Given the description of an element on the screen output the (x, y) to click on. 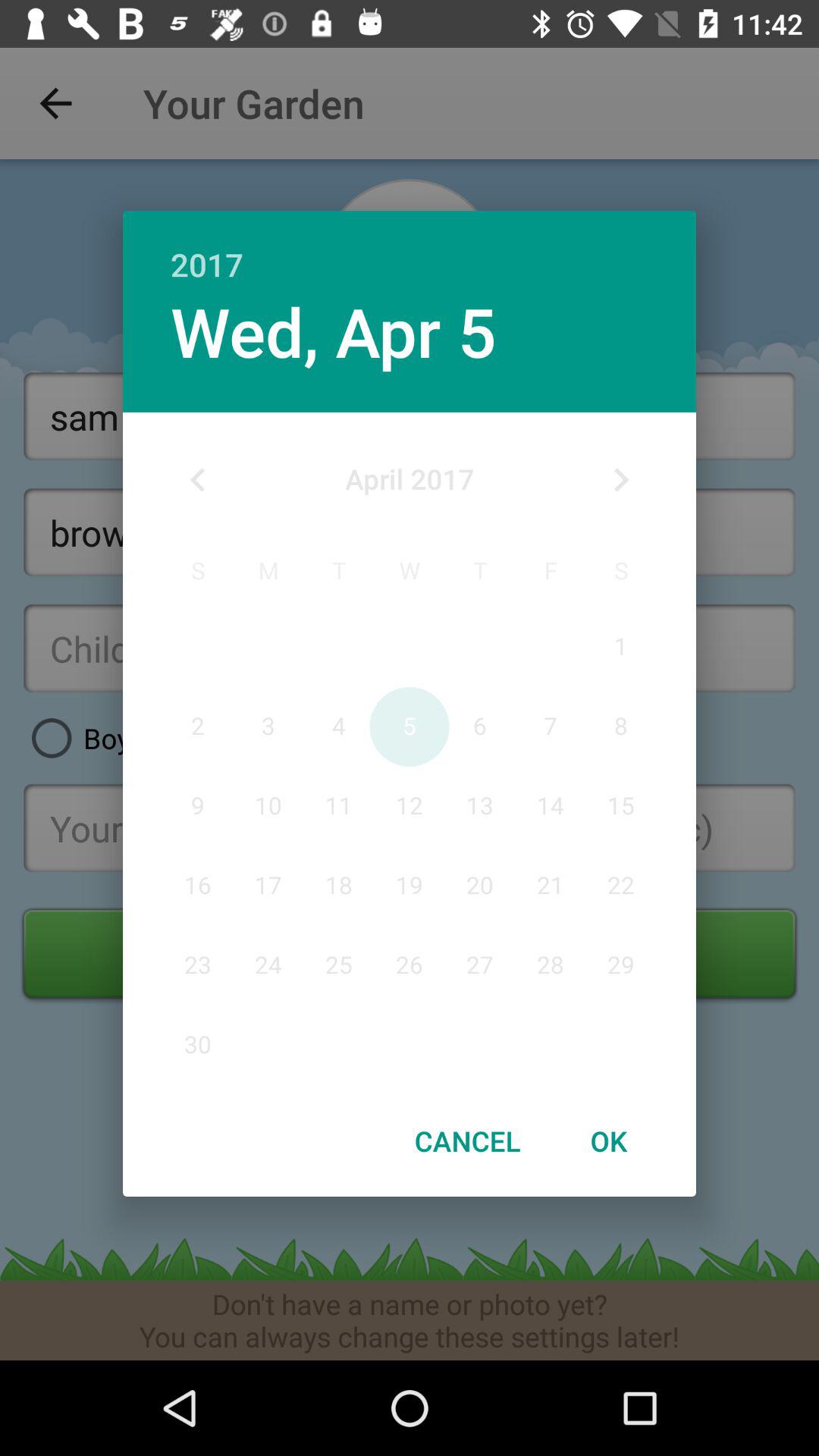
jump to ok (608, 1140)
